Given the description of an element on the screen output the (x, y) to click on. 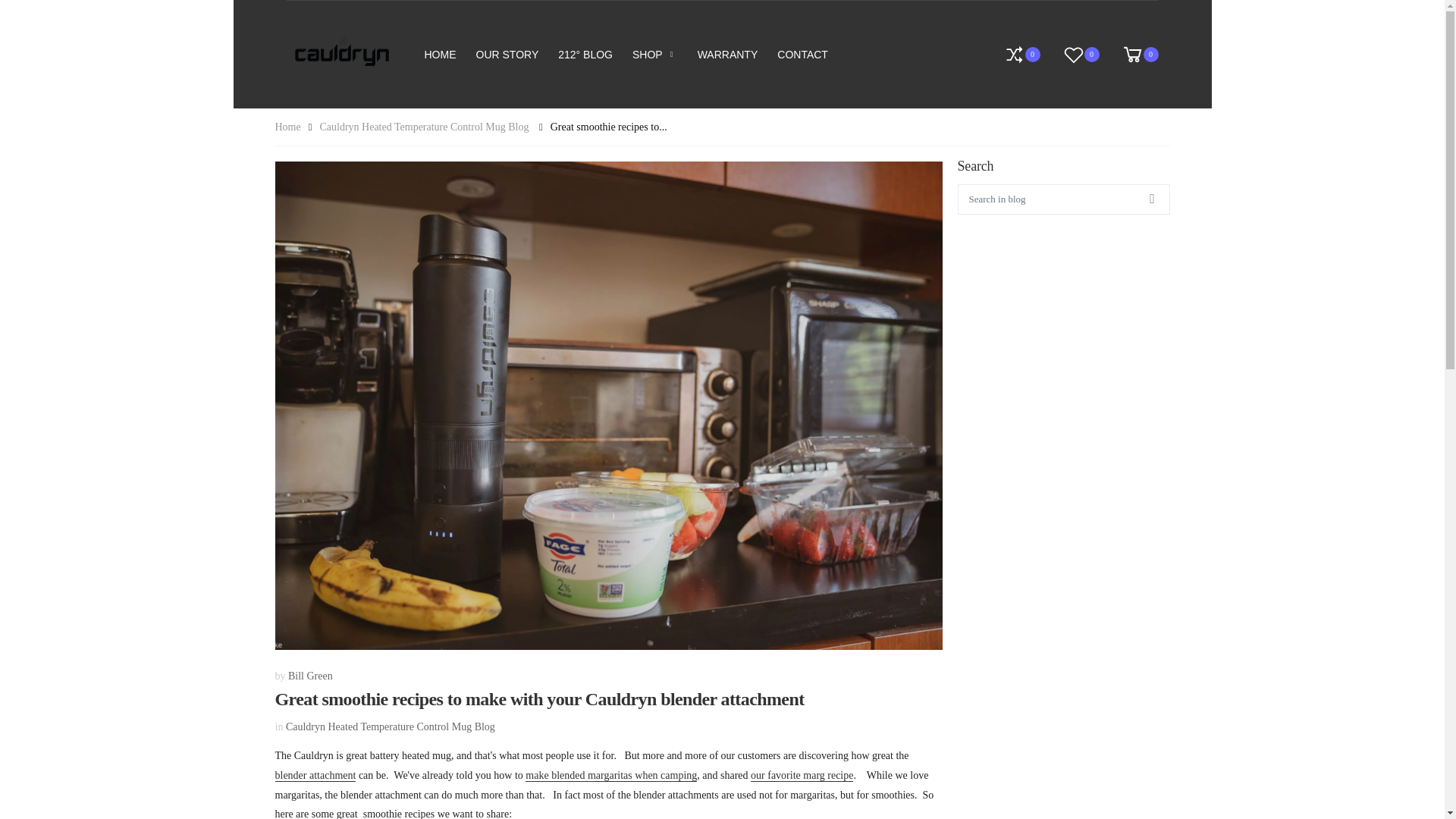
Cauldryn Heated Temperature Control Mug Blog (390, 726)
OUR STORY (507, 54)
Bill Green (310, 675)
make blended margaritas when camping (611, 775)
WARRANTY (727, 54)
blender attachment (591, 784)
SHOP (654, 54)
Cauldryn Heated Temperature Control Mug Blog (423, 127)
Home (287, 127)
Home (287, 127)
CONTACT (802, 54)
0 (1133, 54)
our favorite marg recipe (802, 775)
0 (1080, 54)
Search (1151, 199)
